Given the description of an element on the screen output the (x, y) to click on. 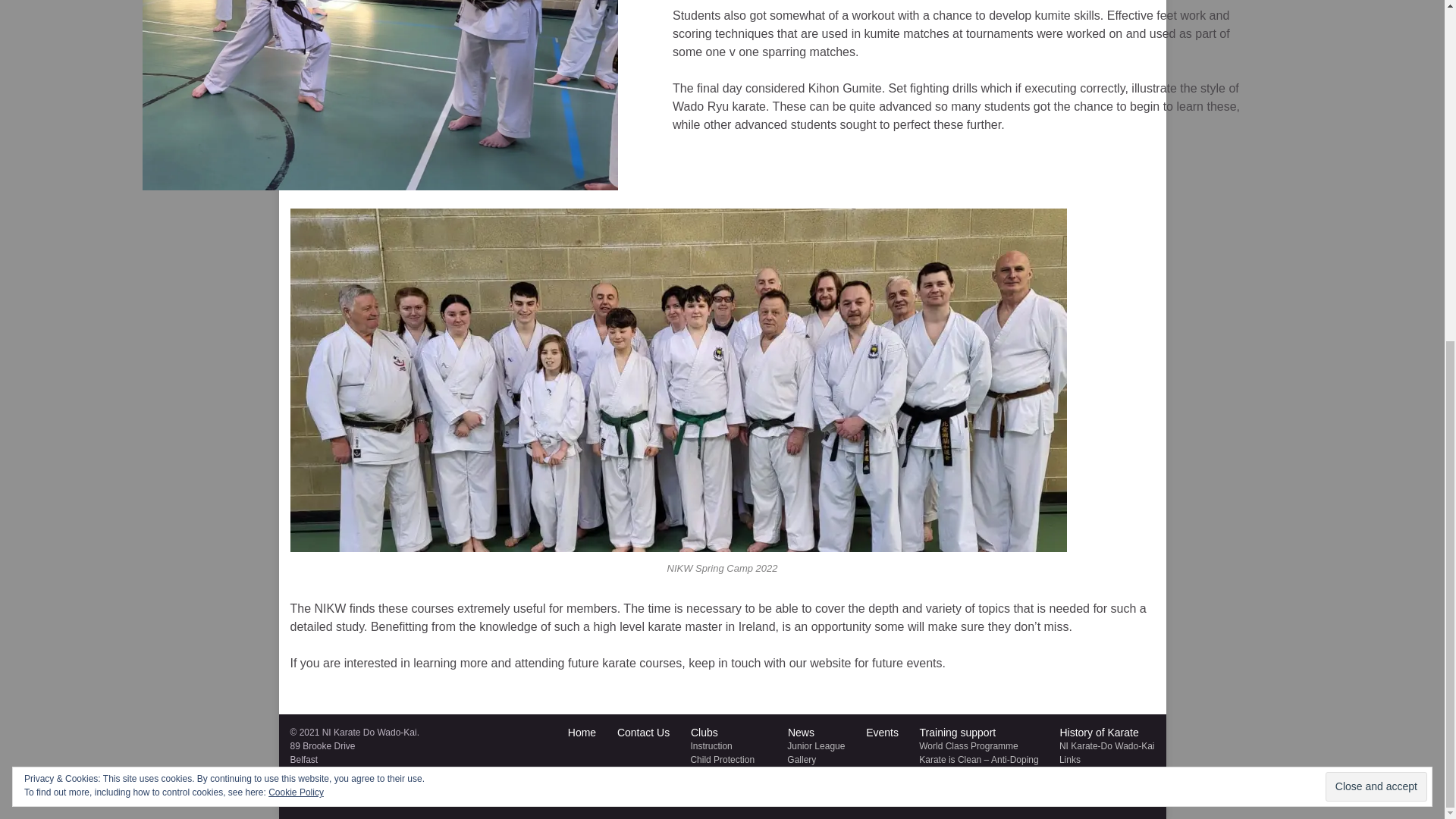
Home (579, 732)
Events (880, 732)
Close and accept (1375, 207)
Instruction (709, 746)
Contact Us (641, 732)
Clubs (702, 732)
World Class Programme (967, 746)
Disability (706, 773)
News (798, 732)
Child Protection (720, 759)
Training support (956, 732)
People (703, 787)
Support committee (727, 800)
Gallery (799, 759)
Junior League (814, 746)
